Given the description of an element on the screen output the (x, y) to click on. 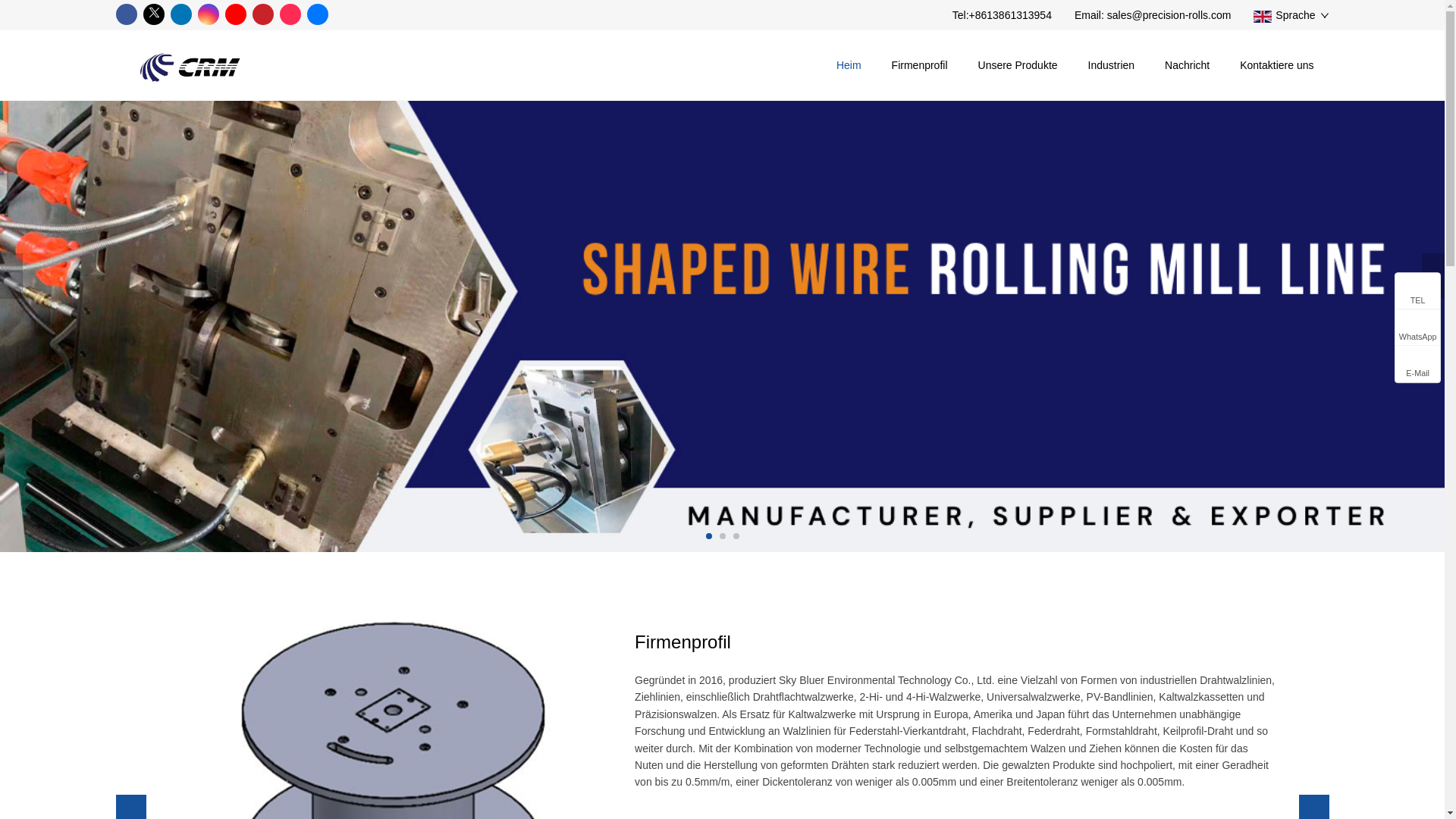
Nachricht (1187, 64)
facebook (125, 14)
instagram (207, 14)
Industrien (1111, 64)
pinterest (262, 14)
tiktok (289, 14)
Heim (848, 64)
twitter (152, 14)
Unsere Produkte (1017, 64)
vkontakte (316, 14)
linkedin (180, 14)
youtube (235, 14)
language (1290, 15)
Kontaktiere uns (1275, 64)
